Given the description of an element on the screen output the (x, y) to click on. 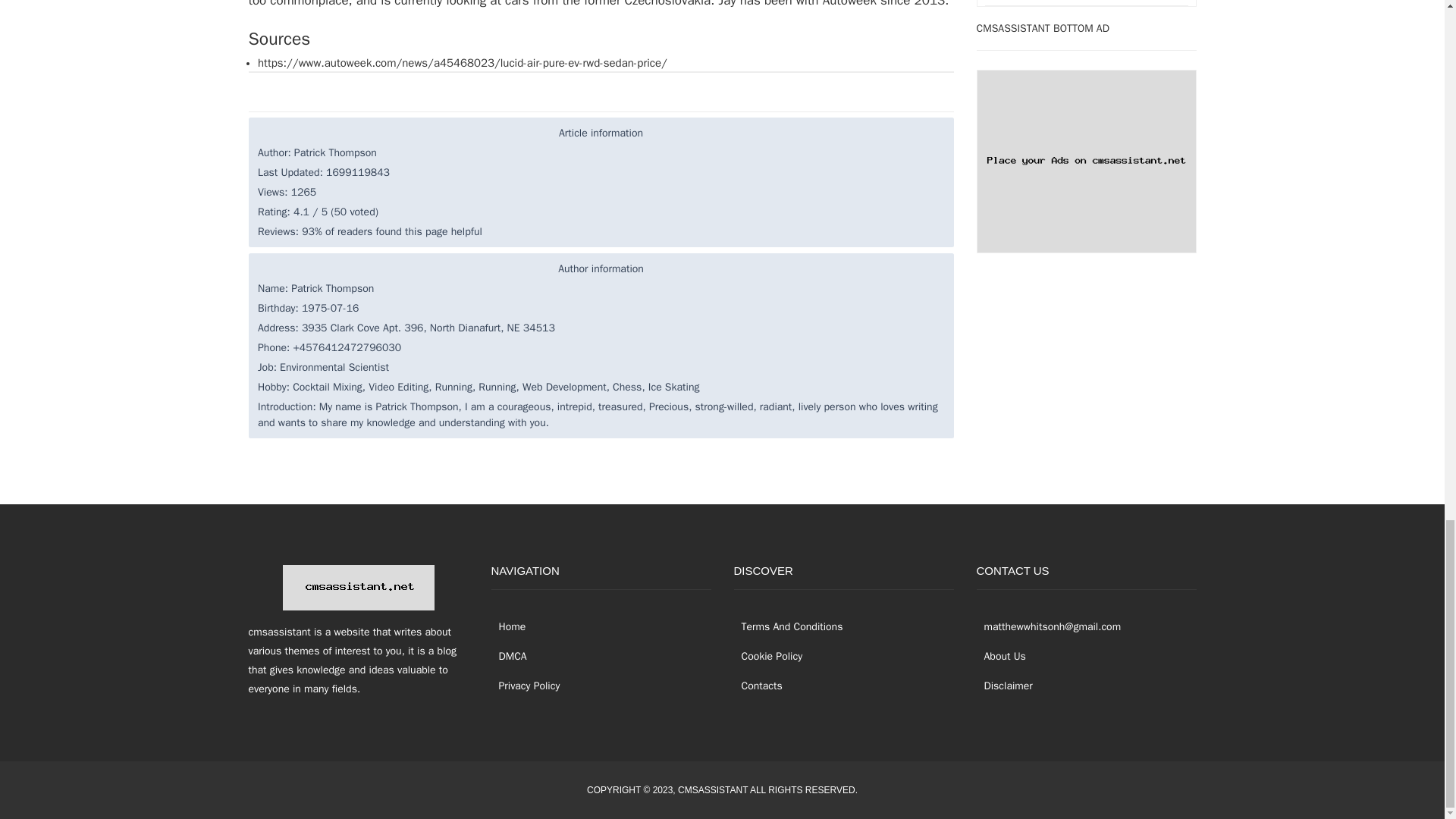
CMSASSISTANT (713, 788)
DMCA (509, 655)
Cookie Policy (768, 655)
Privacy Policy (526, 685)
Terms And Conditions (788, 626)
About Us (1001, 655)
Contacts (758, 685)
Home (508, 626)
Disclaimer (1004, 685)
